Given the description of an element on the screen output the (x, y) to click on. 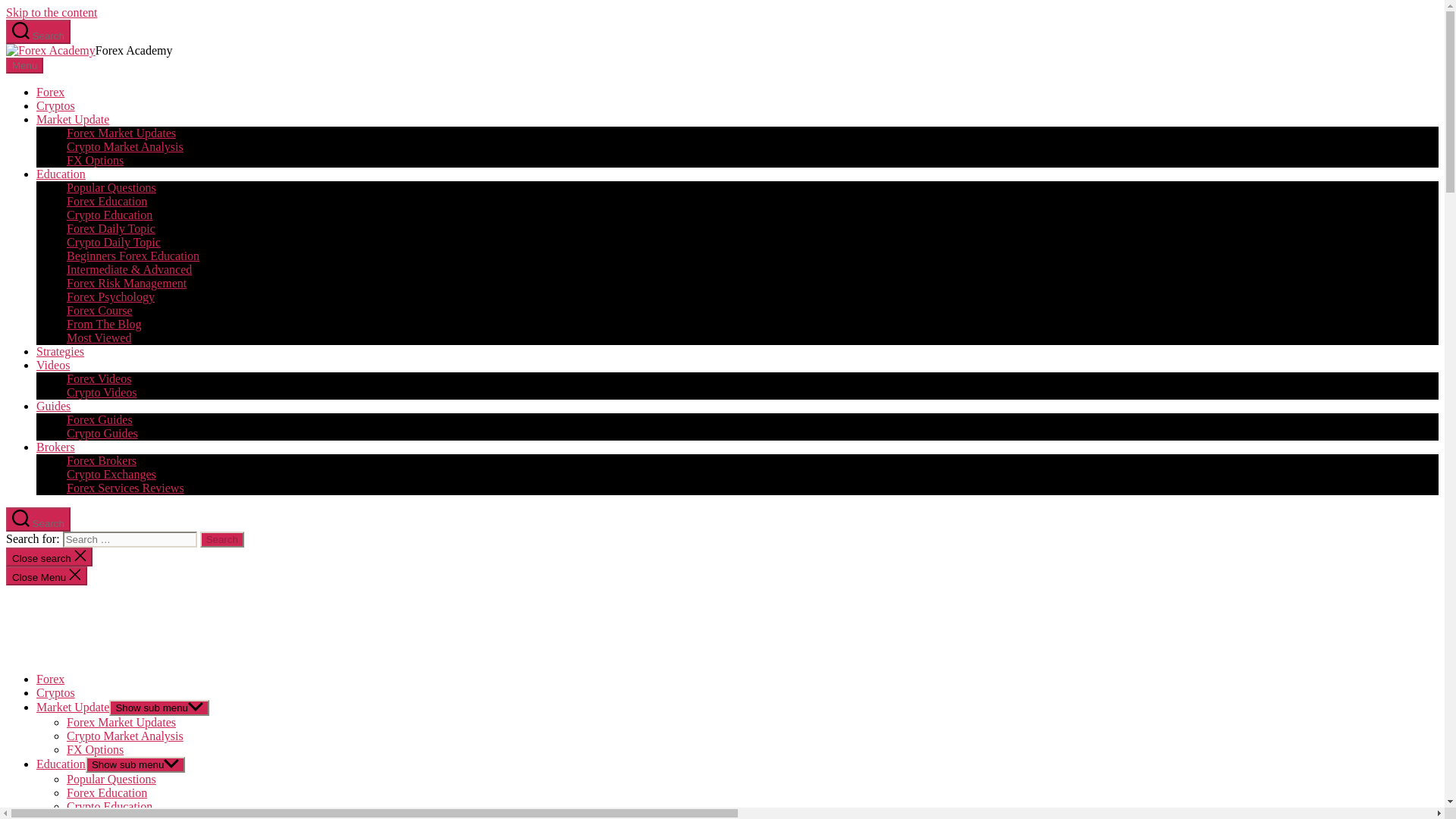
Forex (50, 678)
Forex (50, 91)
Skip to the content (51, 11)
Forex Education (106, 201)
Crypto Daily Topic (113, 241)
Crypto Exchanges (110, 473)
Close Menu (46, 575)
Forex Daily Topic (110, 228)
Education (60, 173)
Market Update (72, 119)
Forex Risk Management (126, 282)
Forex Guides (99, 419)
Forex Services Reviews (125, 487)
Videos (52, 364)
Crypto Market Analysis (124, 146)
